Given the description of an element on the screen output the (x, y) to click on. 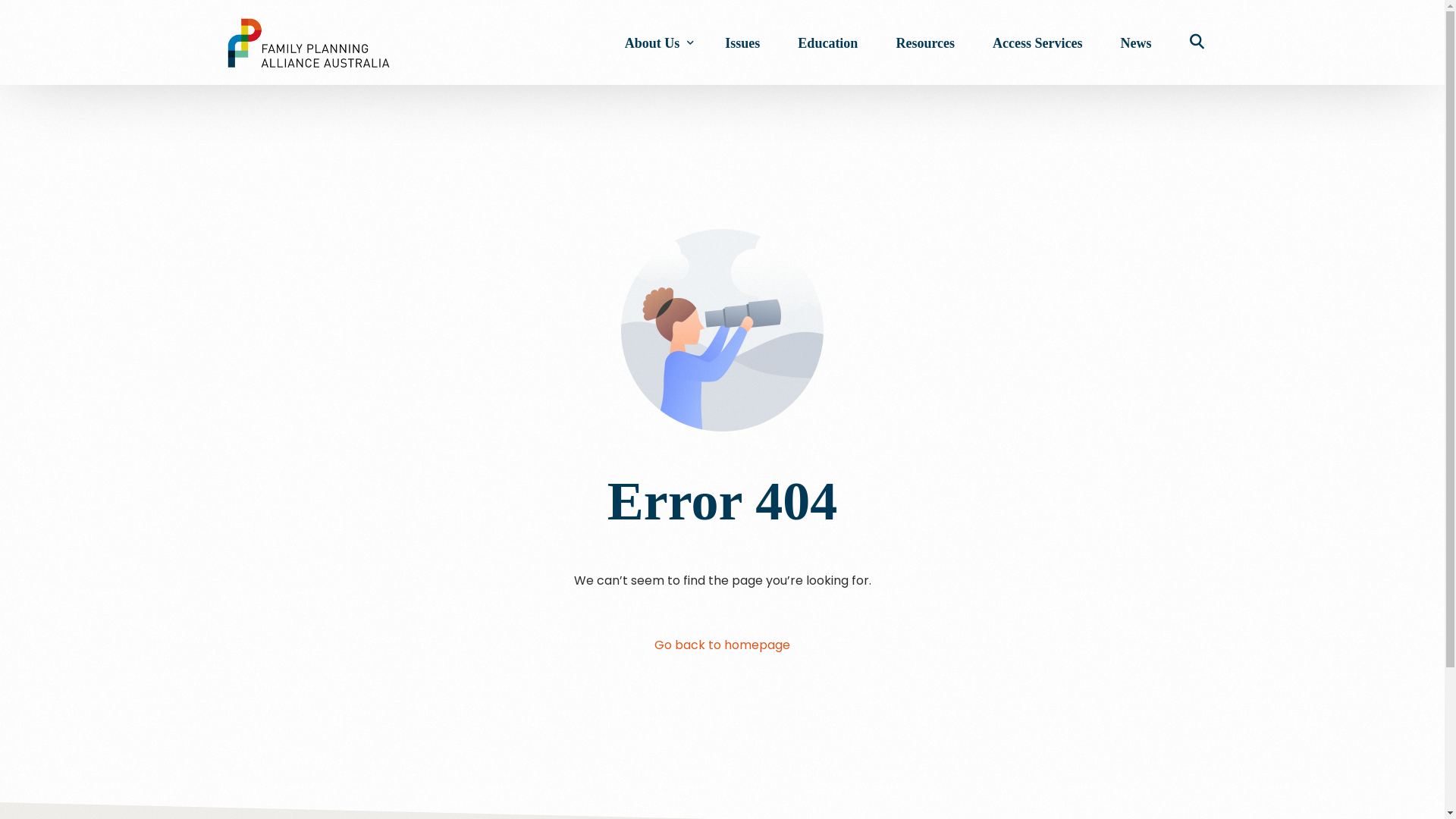
Go back to homepage Element type: text (722, 645)
Resources Element type: text (924, 42)
Access Services Element type: text (1037, 42)
Education Element type: text (827, 42)
About Us Element type: text (655, 42)
News Element type: text (1135, 42)
Issues Element type: text (742, 42)
